Given the description of an element on the screen output the (x, y) to click on. 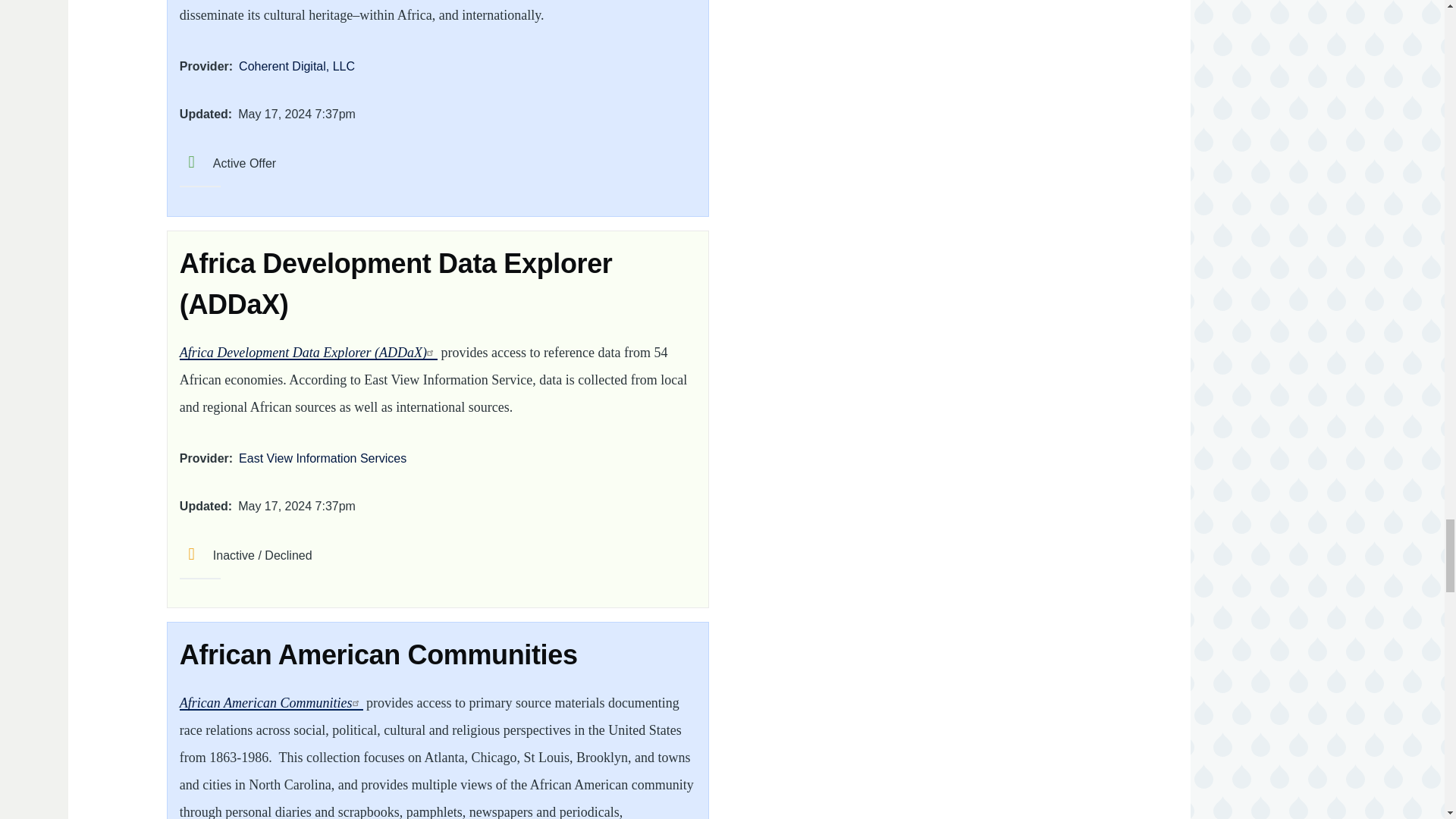
Active Offer (227, 163)
